Given the description of an element on the screen output the (x, y) to click on. 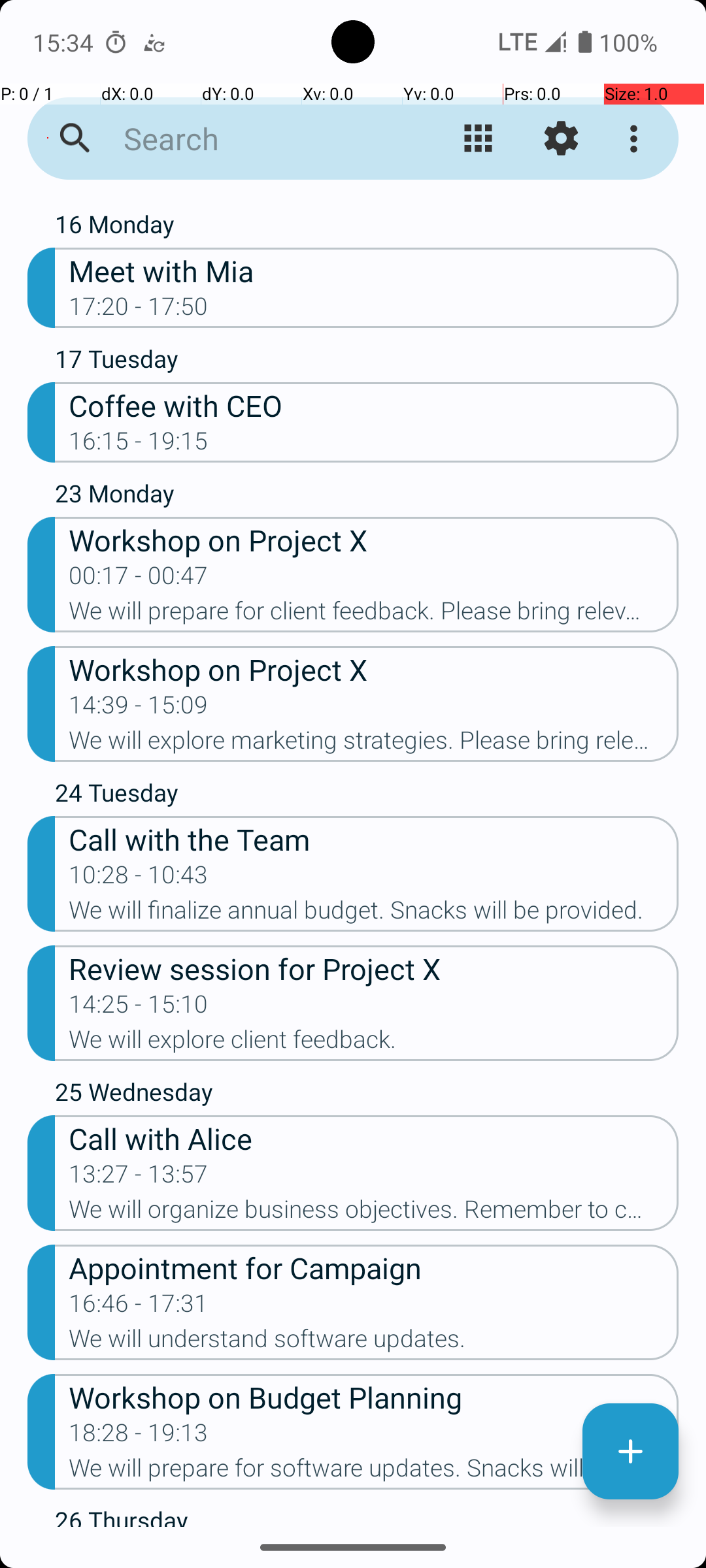
25 Wednesday Element type: android.widget.TextView (366, 1094)
26 Thursday Element type: android.widget.TextView (366, 1514)
Meet with Mia Element type: android.widget.TextView (373, 269)
17:20 - 17:50 Element type: android.widget.TextView (137, 309)
Coffee with CEO Element type: android.widget.TextView (373, 404)
16:15 - 19:15 Element type: android.widget.TextView (137, 444)
00:17 - 00:47 Element type: android.widget.TextView (137, 579)
We will prepare for client feedback. Please bring relevant documents. Element type: android.widget.TextView (373, 614)
14:39 - 15:09 Element type: android.widget.TextView (137, 708)
We will explore marketing strategies. Please bring relevant documents. Element type: android.widget.TextView (373, 743)
10:28 - 10:43 Element type: android.widget.TextView (137, 878)
We will finalize annual budget. Snacks will be provided. Element type: android.widget.TextView (373, 913)
14:25 - 15:10 Element type: android.widget.TextView (137, 1007)
We will explore client feedback. Element type: android.widget.TextView (373, 1043)
13:27 - 13:57 Element type: android.widget.TextView (137, 1177)
We will organize business objectives. Remember to confirm attendance. Element type: android.widget.TextView (373, 1212)
16:46 - 17:31 Element type: android.widget.TextView (137, 1306)
We will understand software updates. Element type: android.widget.TextView (373, 1342)
18:28 - 19:13 Element type: android.widget.TextView (137, 1436)
We will prepare for software updates. Snacks will be provided. Element type: android.widget.TextView (373, 1471)
